Given the description of an element on the screen output the (x, y) to click on. 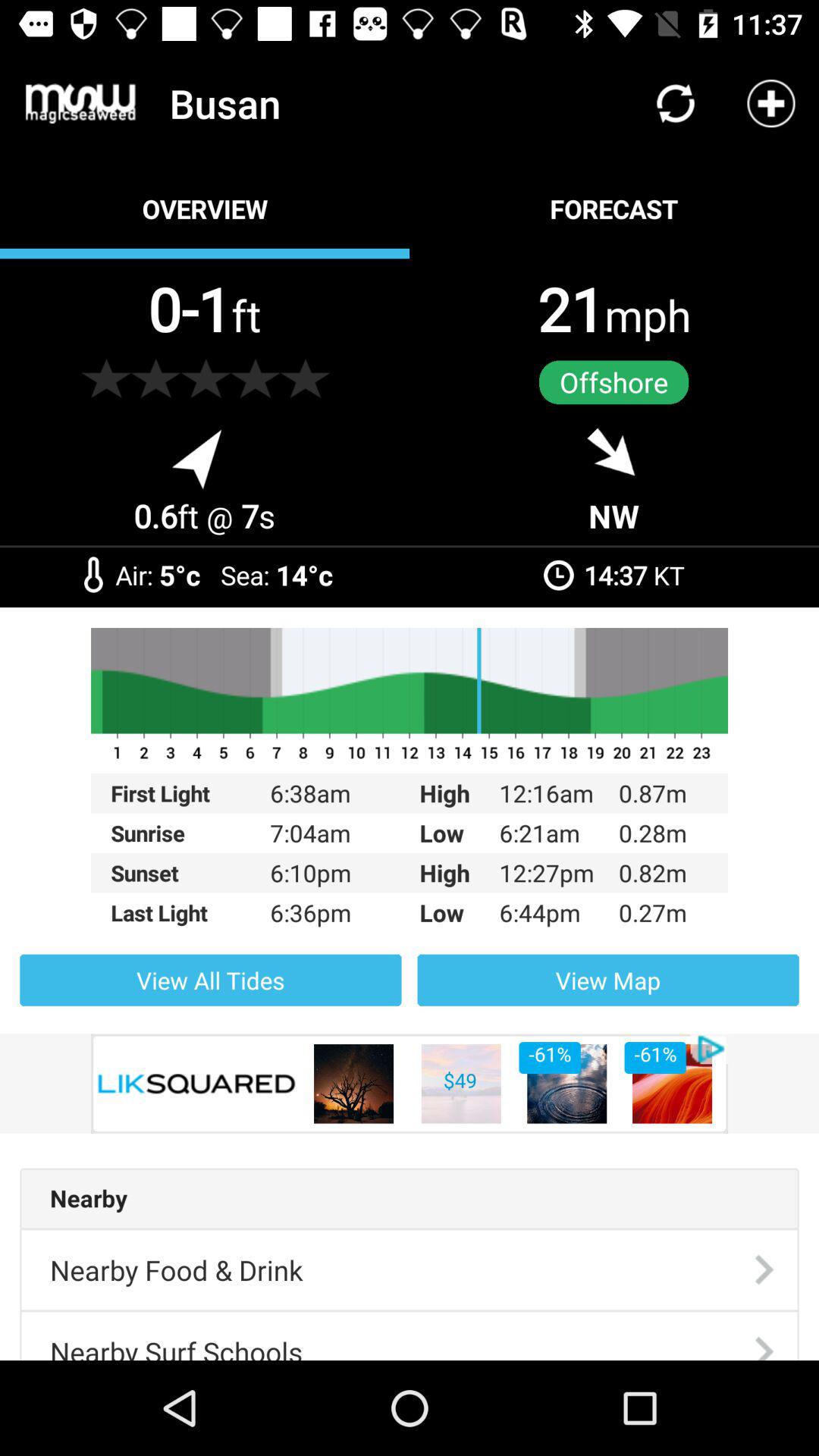
press nearby surf schools icon (176, 1336)
